Given the description of an element on the screen output the (x, y) to click on. 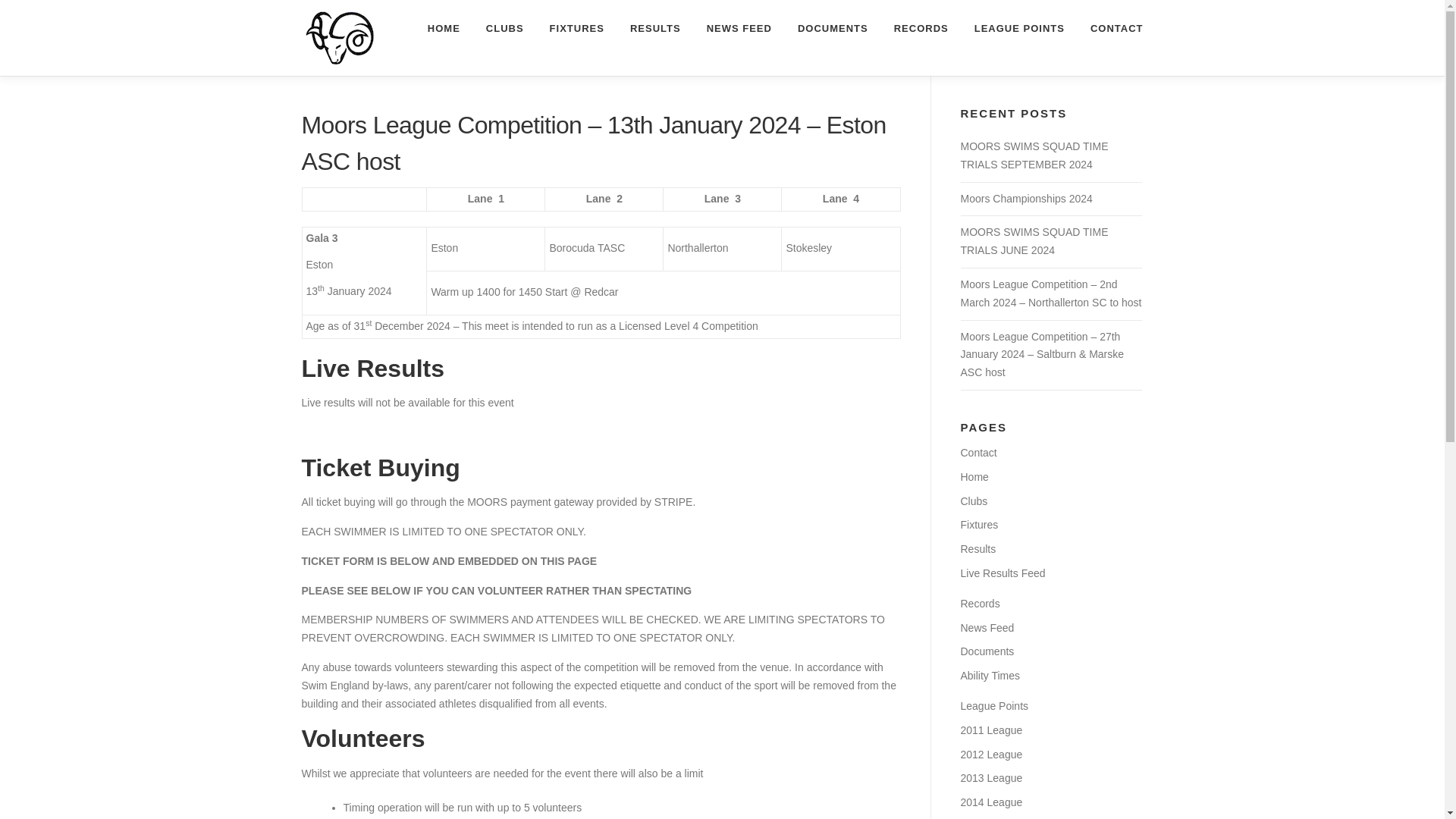
CONTACT (1109, 28)
FIXTURES (577, 28)
Fixtures (978, 524)
MOORS SWIMS SQUAD TIME TRIALS SEPTEMBER 2024 (1033, 155)
2011 League (990, 729)
LEAGUE POINTS (1018, 28)
Moors Championships 2024 (1025, 198)
Live Results Feed (1002, 573)
HOME (443, 28)
Home (973, 476)
CLUBS (505, 28)
Records (978, 603)
League Points (993, 705)
News Feed (986, 627)
DOCUMENTS (832, 28)
